Given the description of an element on the screen output the (x, y) to click on. 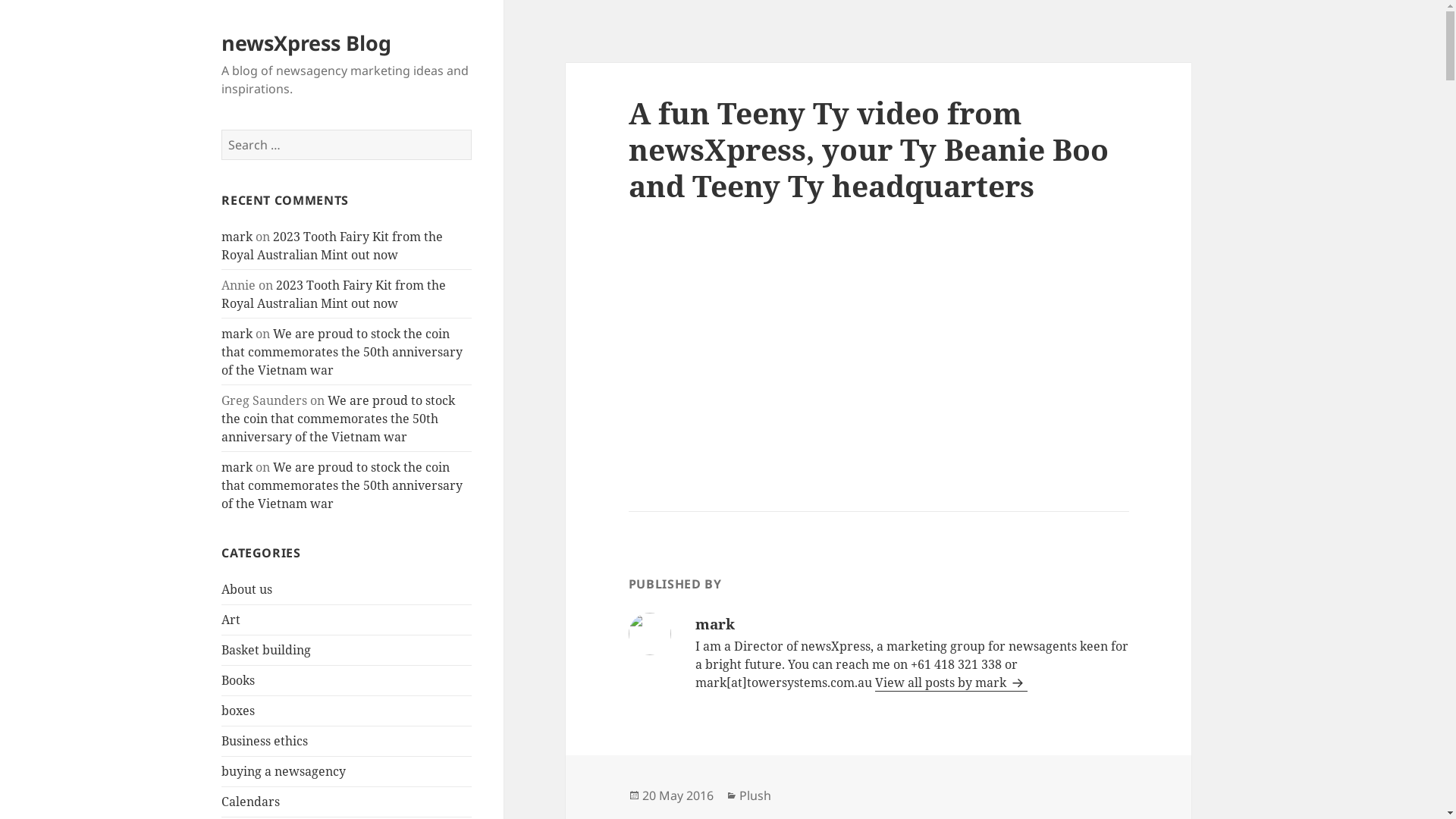
mark Element type: text (236, 333)
Calendars Element type: text (250, 801)
newsXpress Blog Element type: text (306, 42)
View all posts by mark Element type: text (951, 682)
2023 Tooth Fairy Kit from the Royal Australian Mint out now Element type: text (331, 245)
Plush Element type: text (755, 795)
Search Element type: text (470, 128)
mark Element type: text (236, 466)
boxes Element type: text (237, 710)
About us Element type: text (246, 588)
Art Element type: text (230, 619)
20 May 2016 Element type: text (677, 795)
Books Element type: text (237, 679)
2023 Tooth Fairy Kit from the Royal Australian Mint out now Element type: text (333, 293)
Business ethics Element type: text (264, 740)
buying a newsagency Element type: text (283, 770)
Basket building Element type: text (265, 649)
mark Element type: text (236, 236)
